Given the description of an element on the screen output the (x, y) to click on. 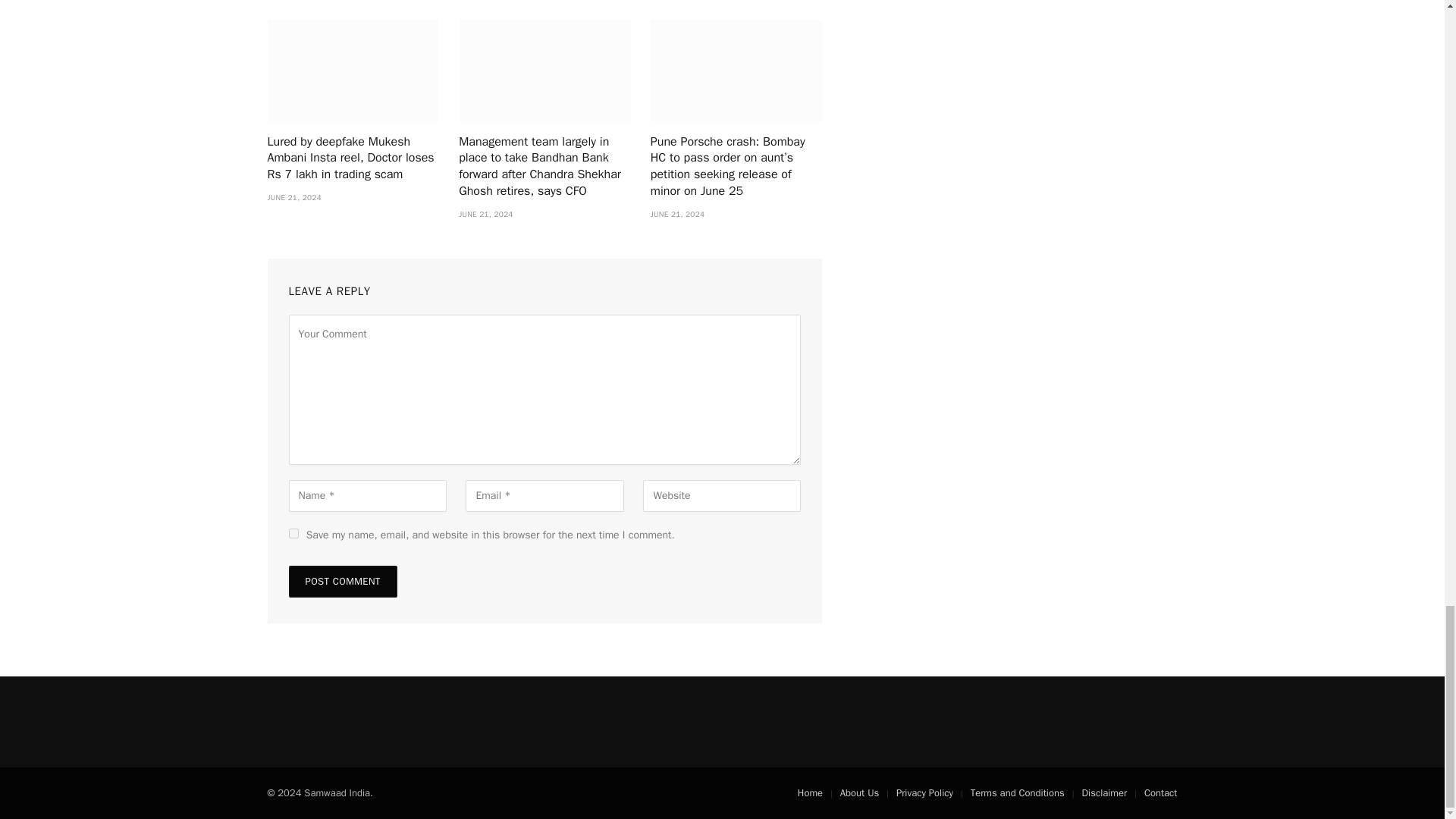
Post Comment (342, 581)
yes (293, 533)
